Given the description of an element on the screen output the (x, y) to click on. 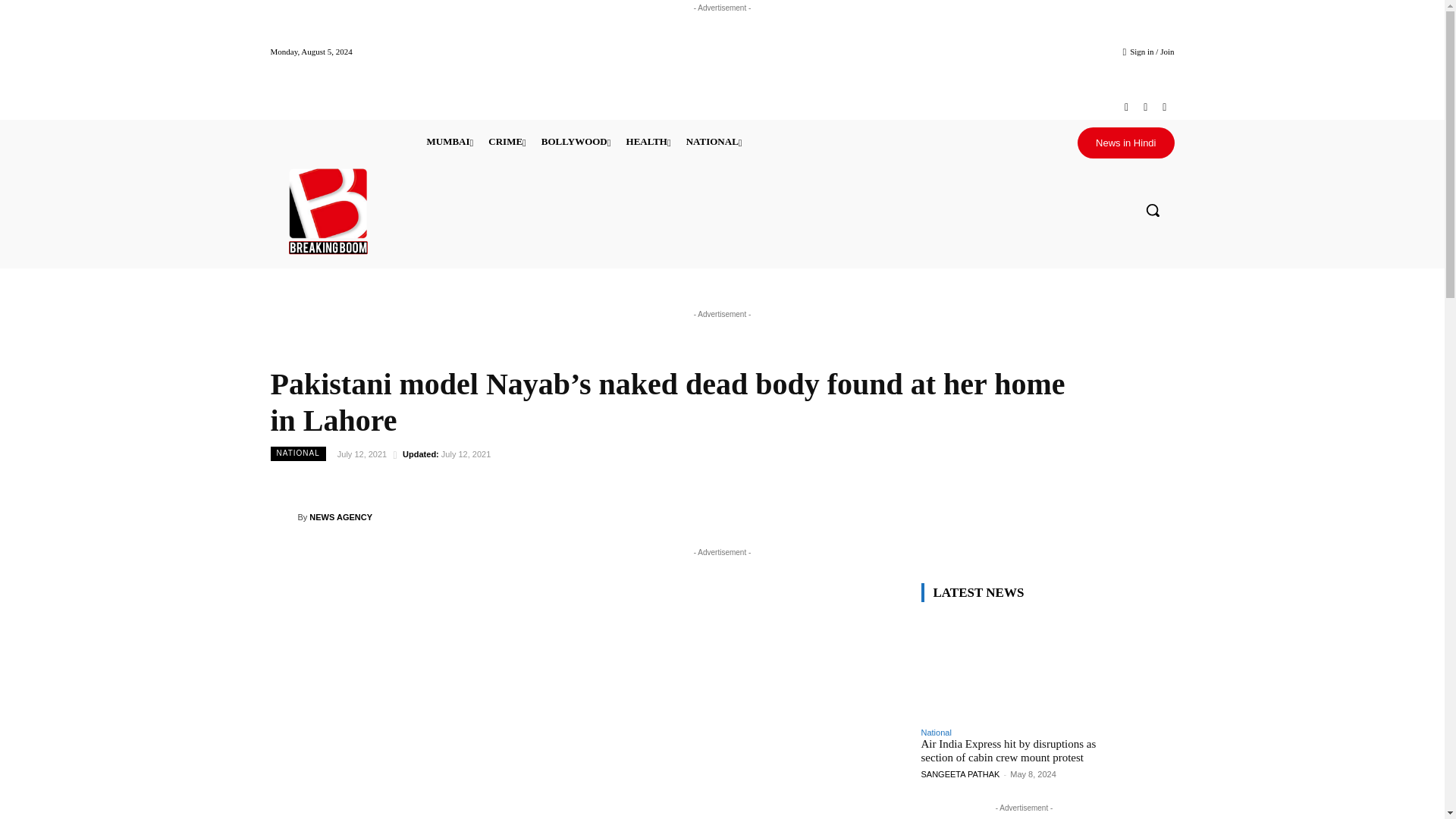
Twitter (1144, 107)
Youtube (1163, 107)
Facebook (1125, 107)
MUMBAI (449, 141)
